Given the description of an element on the screen output the (x, y) to click on. 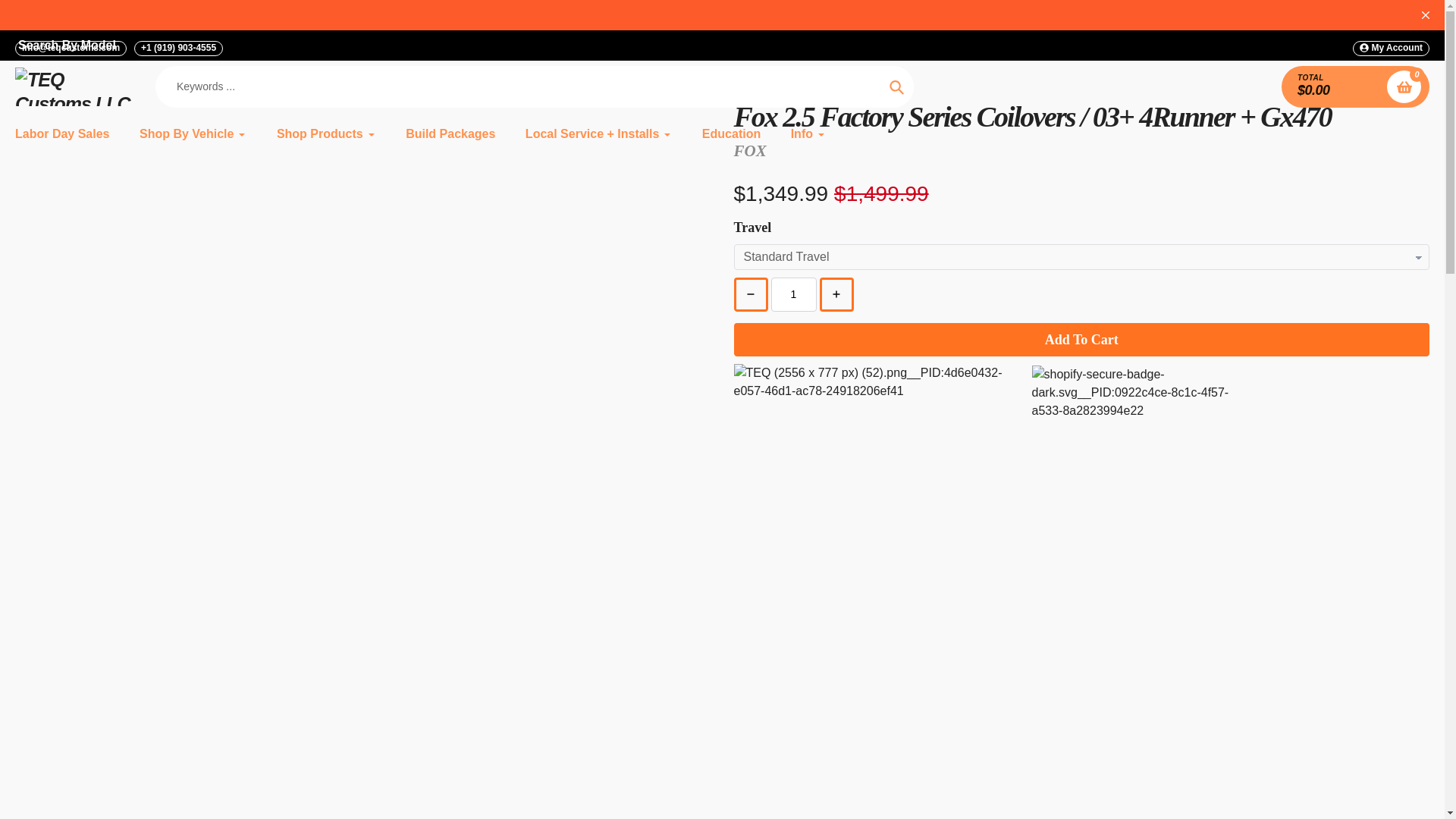
0 (1404, 86)
My Account (1390, 48)
1 (792, 294)
Shop By Vehicle (192, 134)
Labor Day Sales (62, 134)
